Given the description of an element on the screen output the (x, y) to click on. 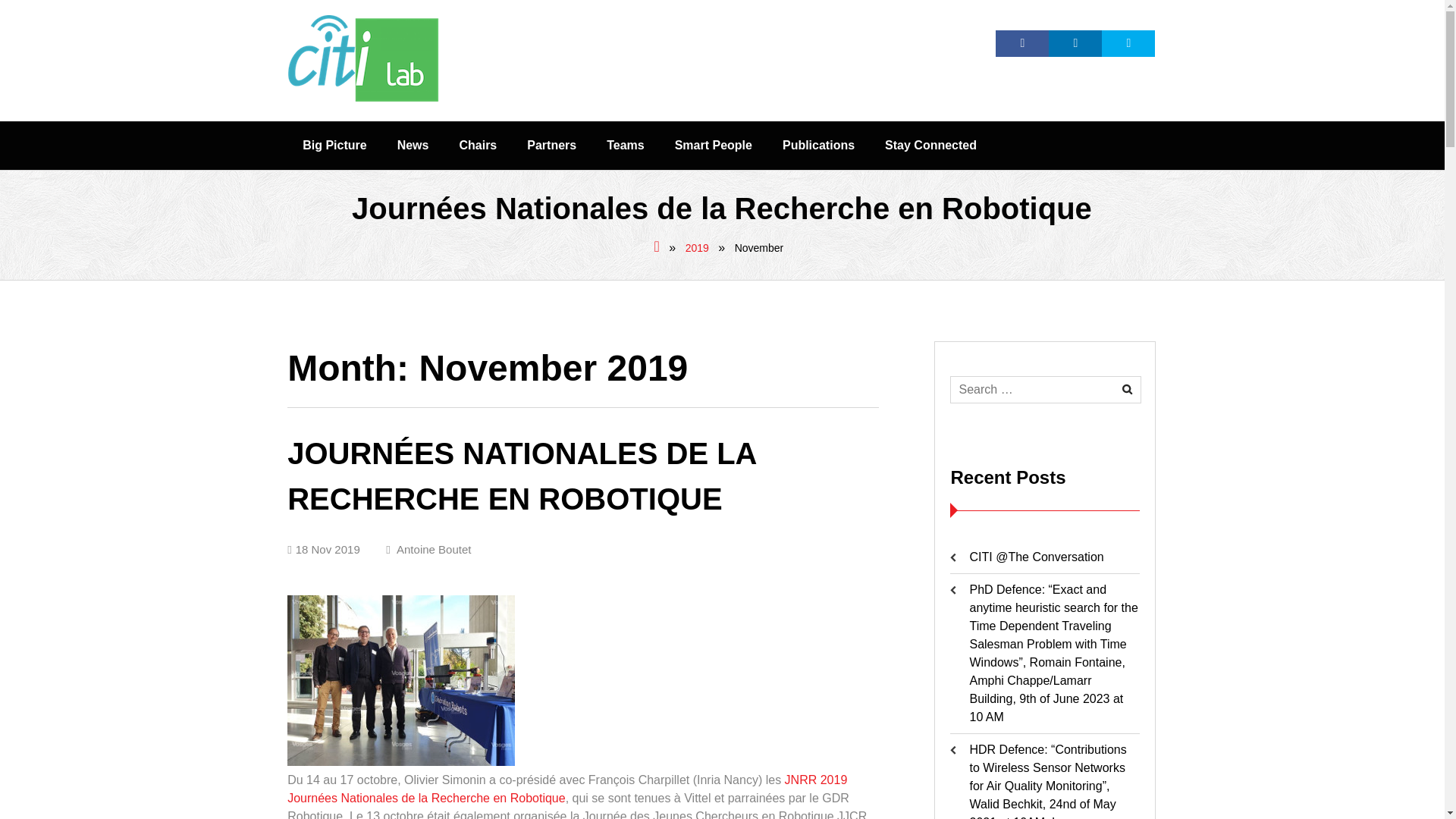
2019 (697, 247)
Big Picture (333, 145)
Publications (818, 145)
Chairs (478, 145)
Search (1127, 388)
Antoine Boutet (427, 549)
Smart People (713, 145)
News (412, 145)
Search (1127, 388)
Partners (551, 145)
